Given the description of an element on the screen output the (x, y) to click on. 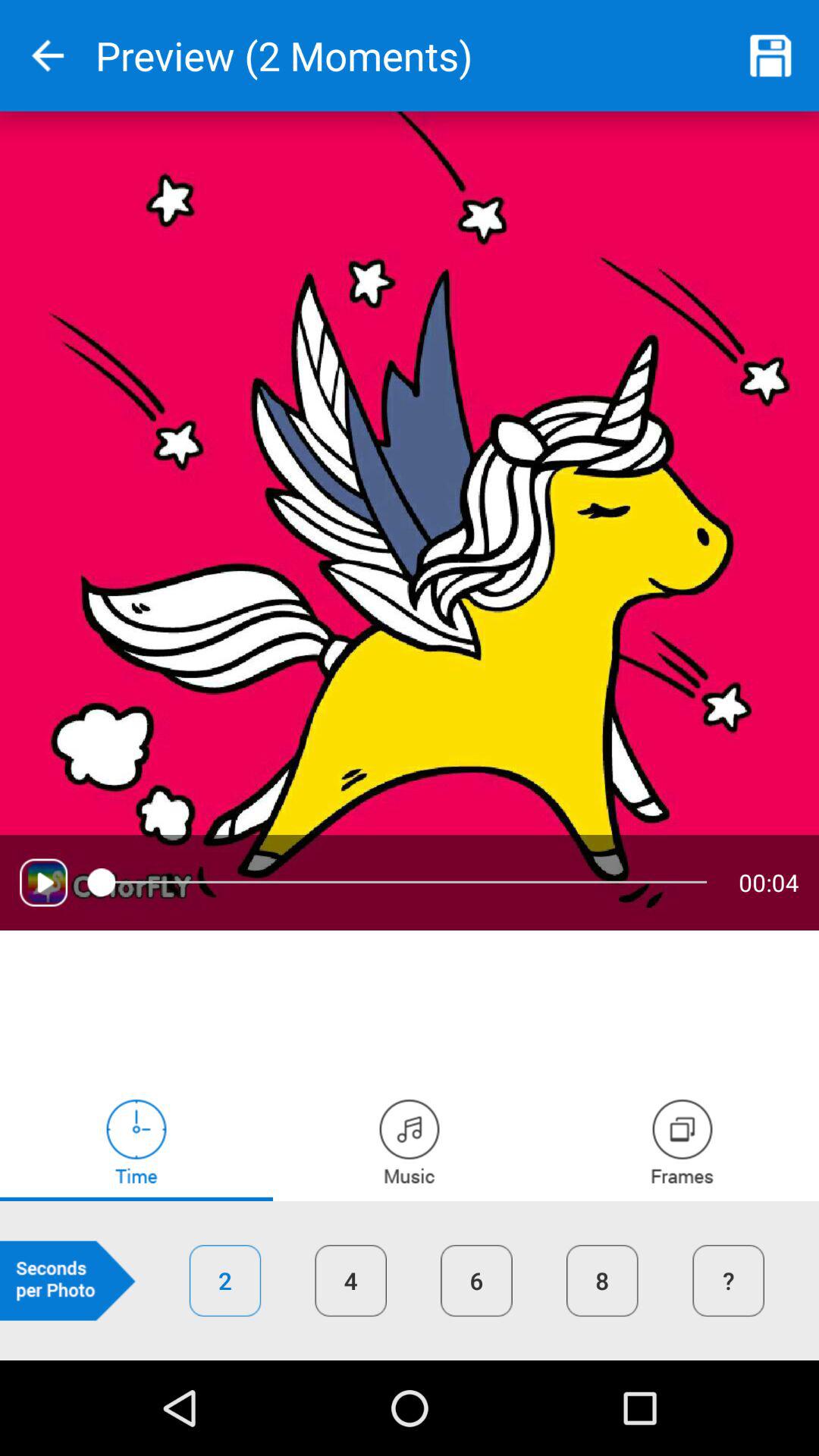
play (43, 882)
